Given the description of an element on the screen output the (x, y) to click on. 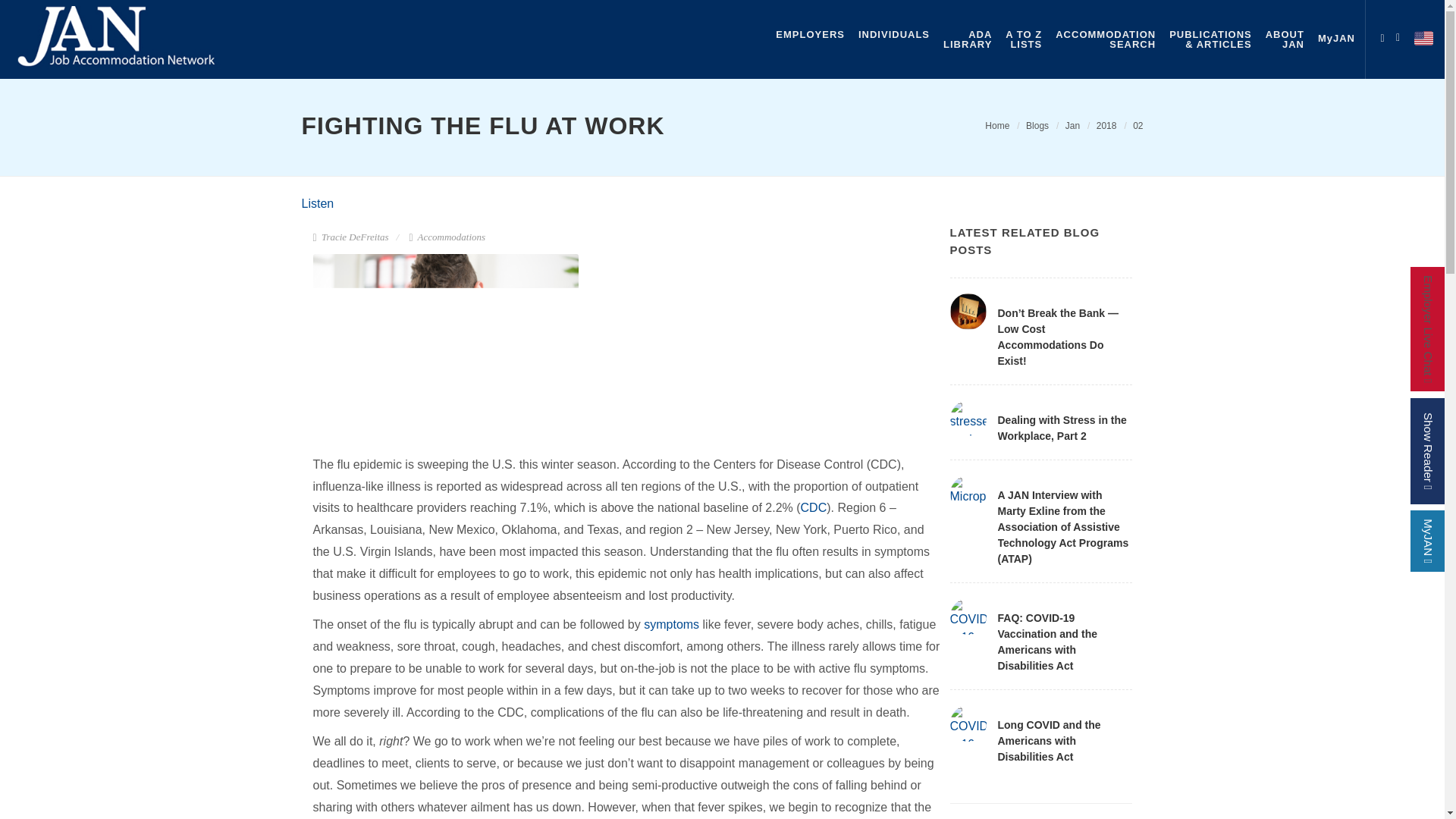
Jan (1072, 125)
02 (1137, 125)
INDIVIDUALS (893, 34)
Open Menu (1105, 39)
Blogs (1382, 35)
Home (1037, 125)
Open Search (997, 125)
2018 (1401, 35)
Listen to this page using ReadSpeaker webReader (1106, 125)
